Given the description of an element on the screen output the (x, y) to click on. 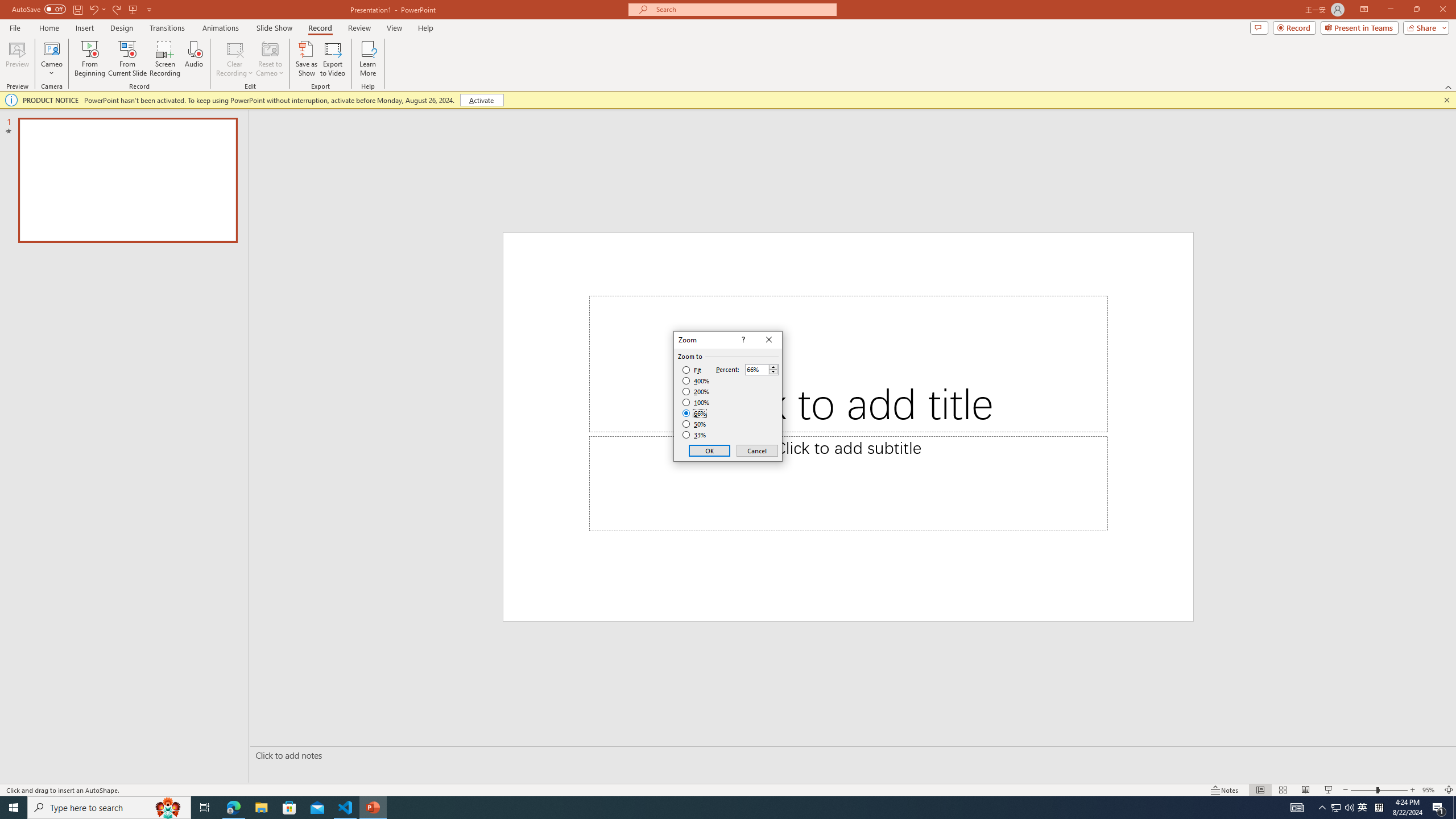
Zoom 95% (1430, 790)
Fit (691, 370)
400% (696, 380)
